Given the description of an element on the screen output the (x, y) to click on. 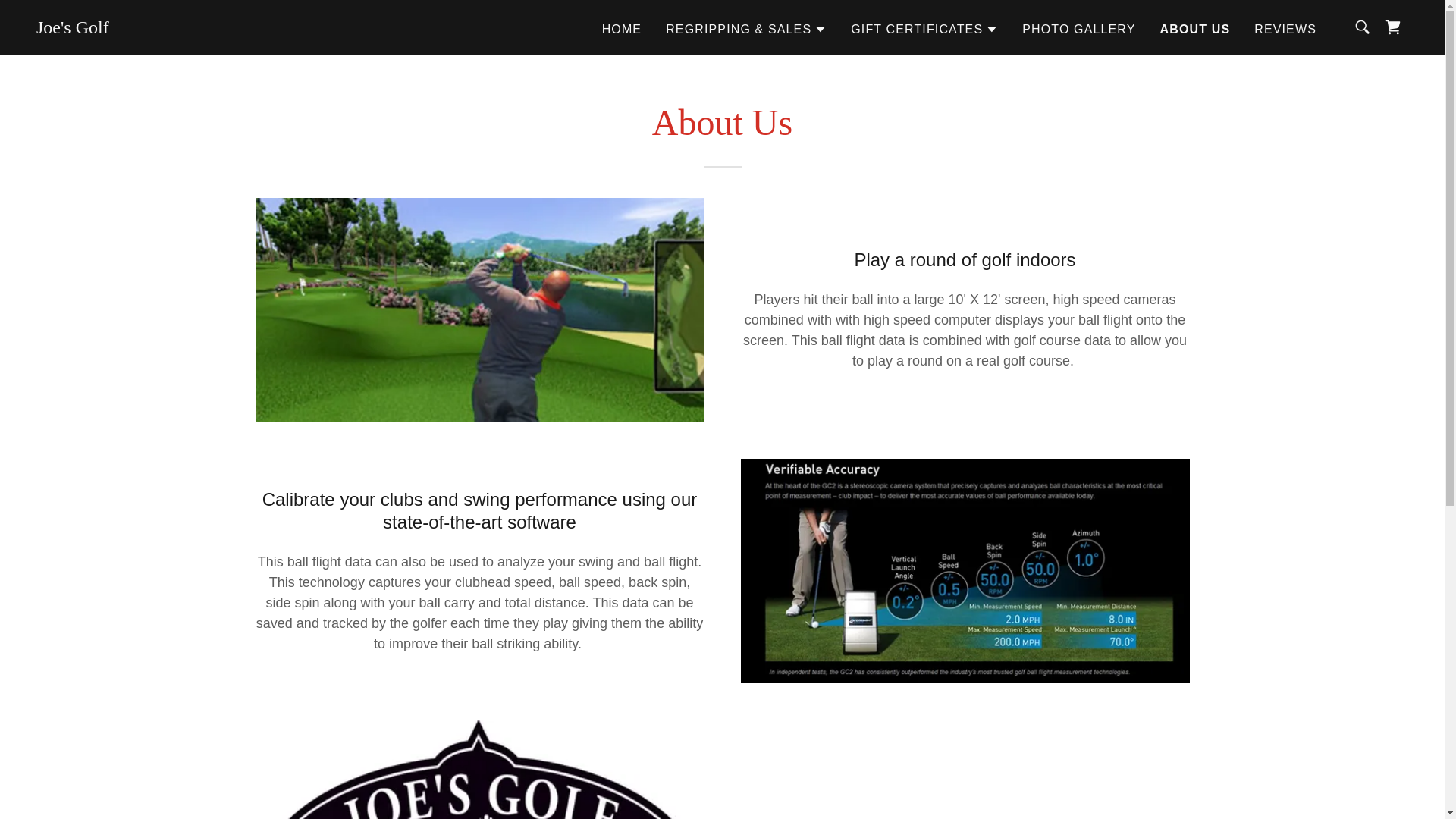
PHOTO GALLERY (1078, 28)
GIFT CERTIFICATES (923, 28)
Joe's Golf (72, 28)
Joe's Golf (72, 28)
HOME (621, 28)
REVIEWS (1284, 28)
ABOUT US (1195, 28)
